Given the description of an element on the screen output the (x, y) to click on. 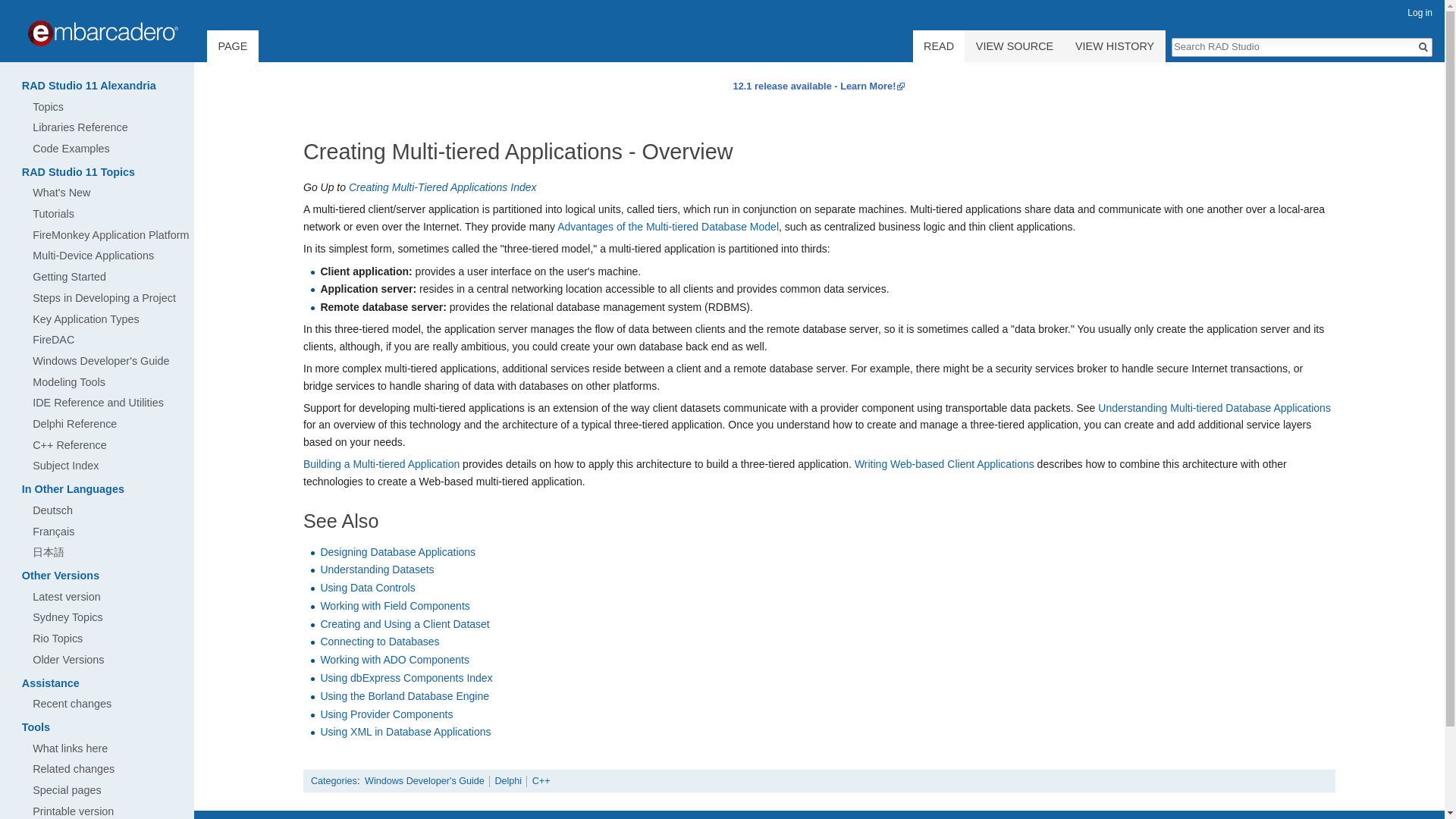
Creating and Using a Client Dataset (404, 623)
Search (1423, 46)
Working with Field Components (394, 605)
Category:Windows Developer's Guide (424, 779)
Using Provider Components (386, 714)
Designing Database Applications (398, 551)
PAGE (232, 51)
Using Provider Components (386, 714)
Windows Developer's Guide (424, 779)
Tutorials (53, 214)
